Given the description of an element on the screen output the (x, y) to click on. 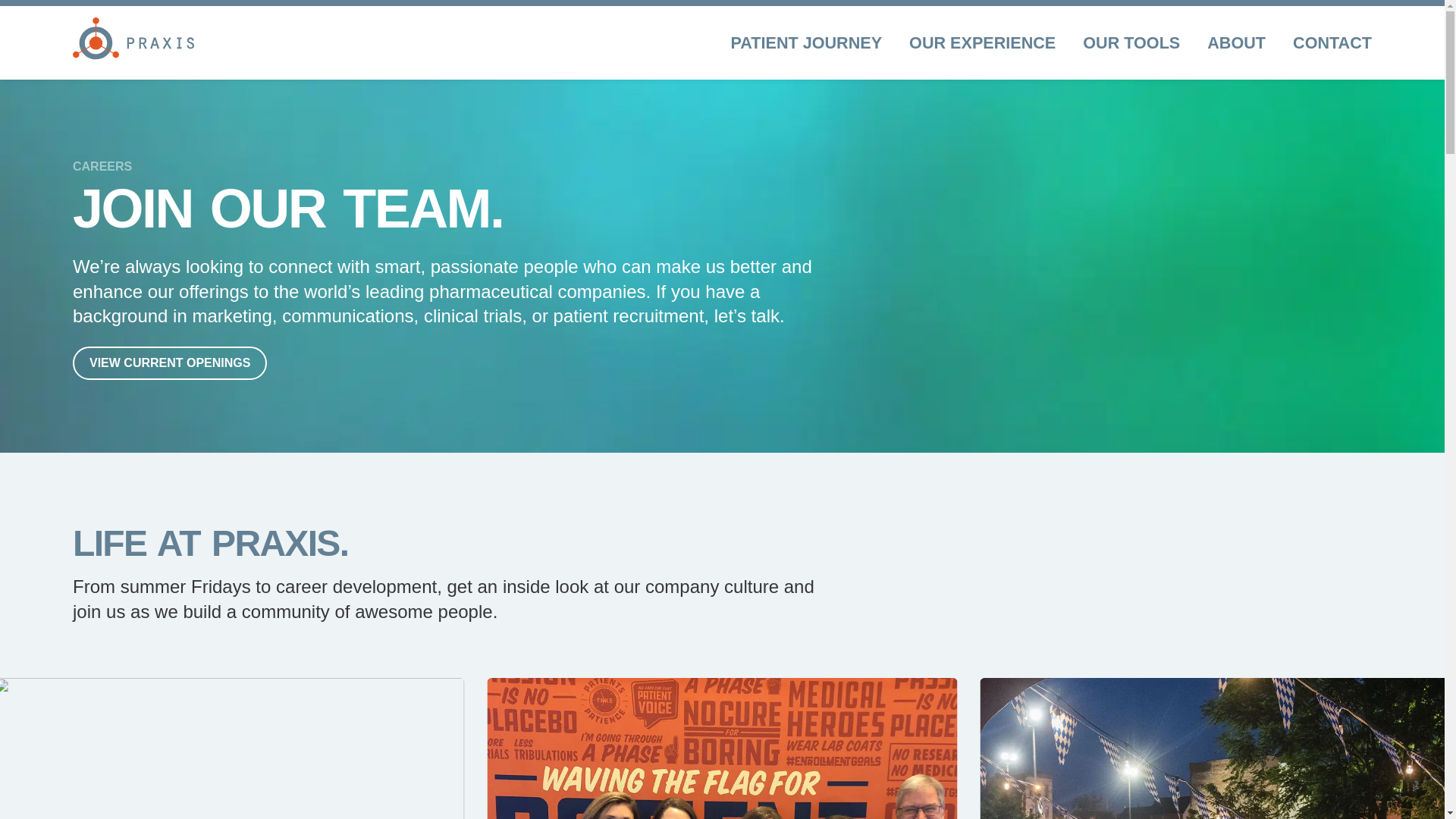
VIEW CURRENT OPENINGS (169, 363)
OUR TOOLS (1131, 42)
CONTACT (1331, 42)
VIEW CURRENT OPENINGS (169, 363)
ABOUT (1236, 42)
OUR EXPERIENCE (981, 42)
PATIENT JOURNEY (806, 42)
